Given the description of an element on the screen output the (x, y) to click on. 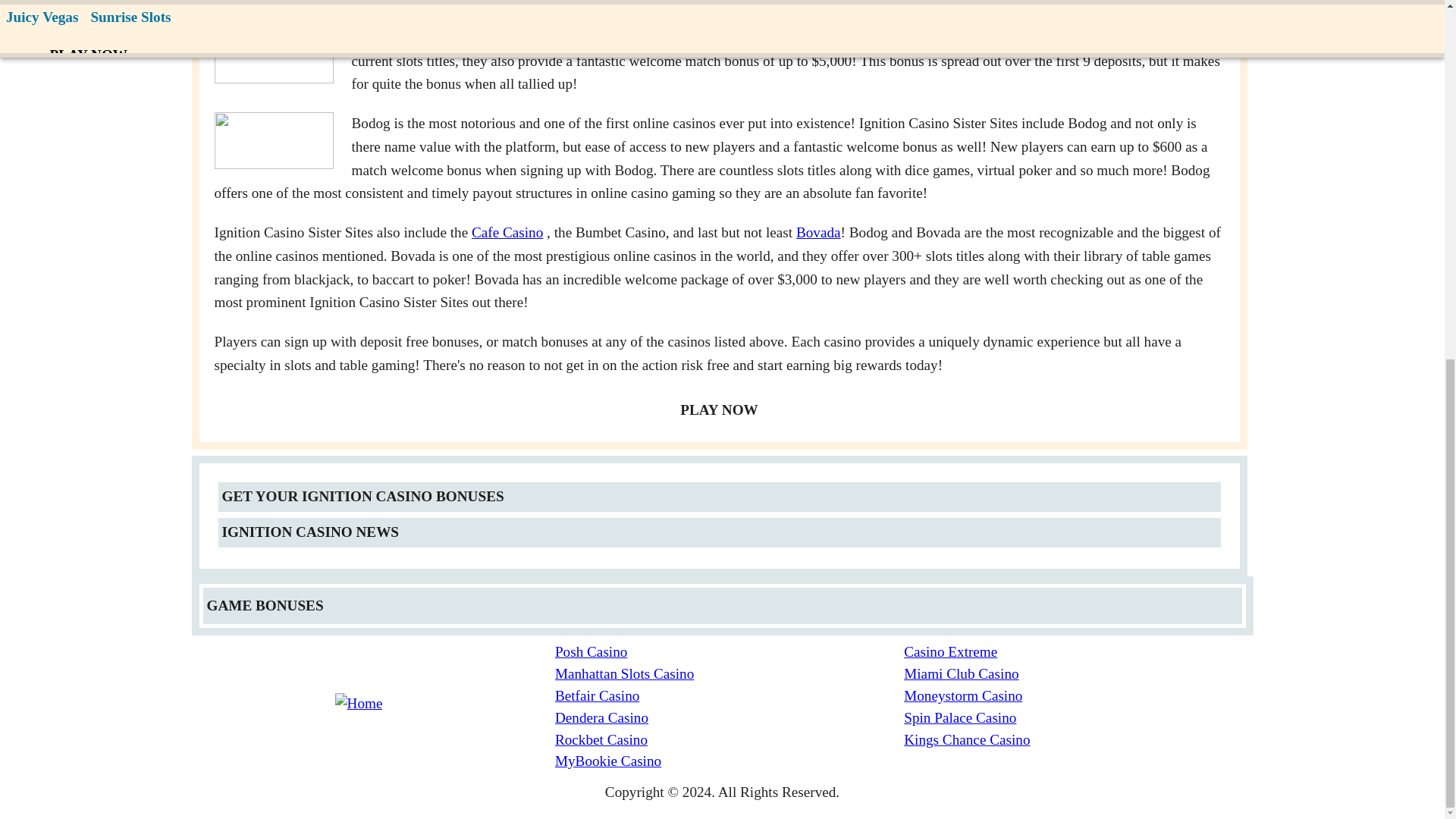
Posh Casino (729, 652)
Miami Club Casino (1078, 674)
PLAY NOW (719, 410)
Moneystorm Casino (1078, 696)
Manhattan Slots Casino (729, 674)
Spin Palace Casino (1078, 718)
Bovada (818, 232)
Kings Chance Casino (1078, 740)
Dendera Casino (729, 718)
Cafe Casino (507, 232)
